Given the description of an element on the screen output the (x, y) to click on. 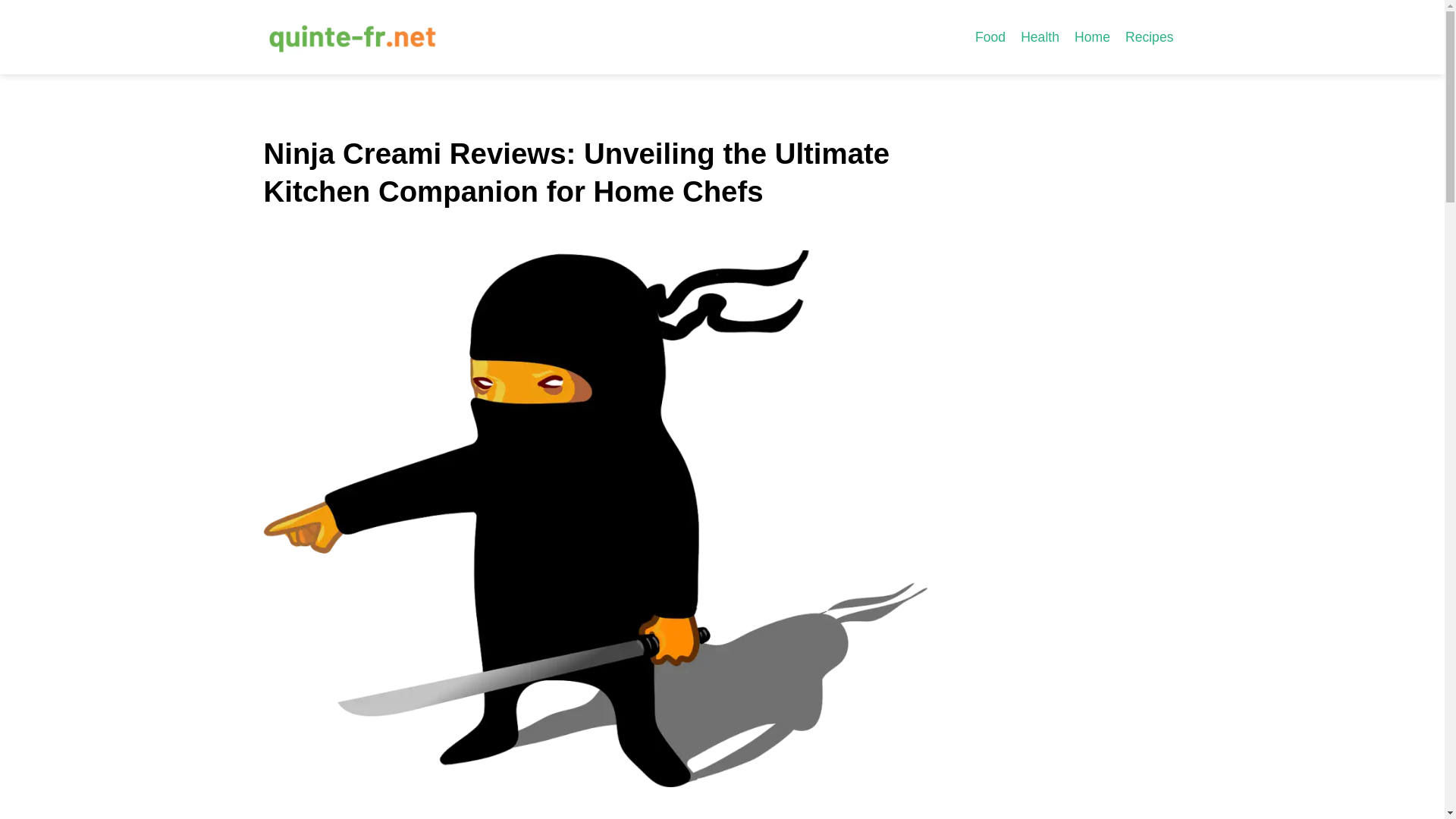
Food (990, 36)
Recipes (1149, 36)
Health (1040, 36)
Home (1092, 36)
